Given the description of an element on the screen output the (x, y) to click on. 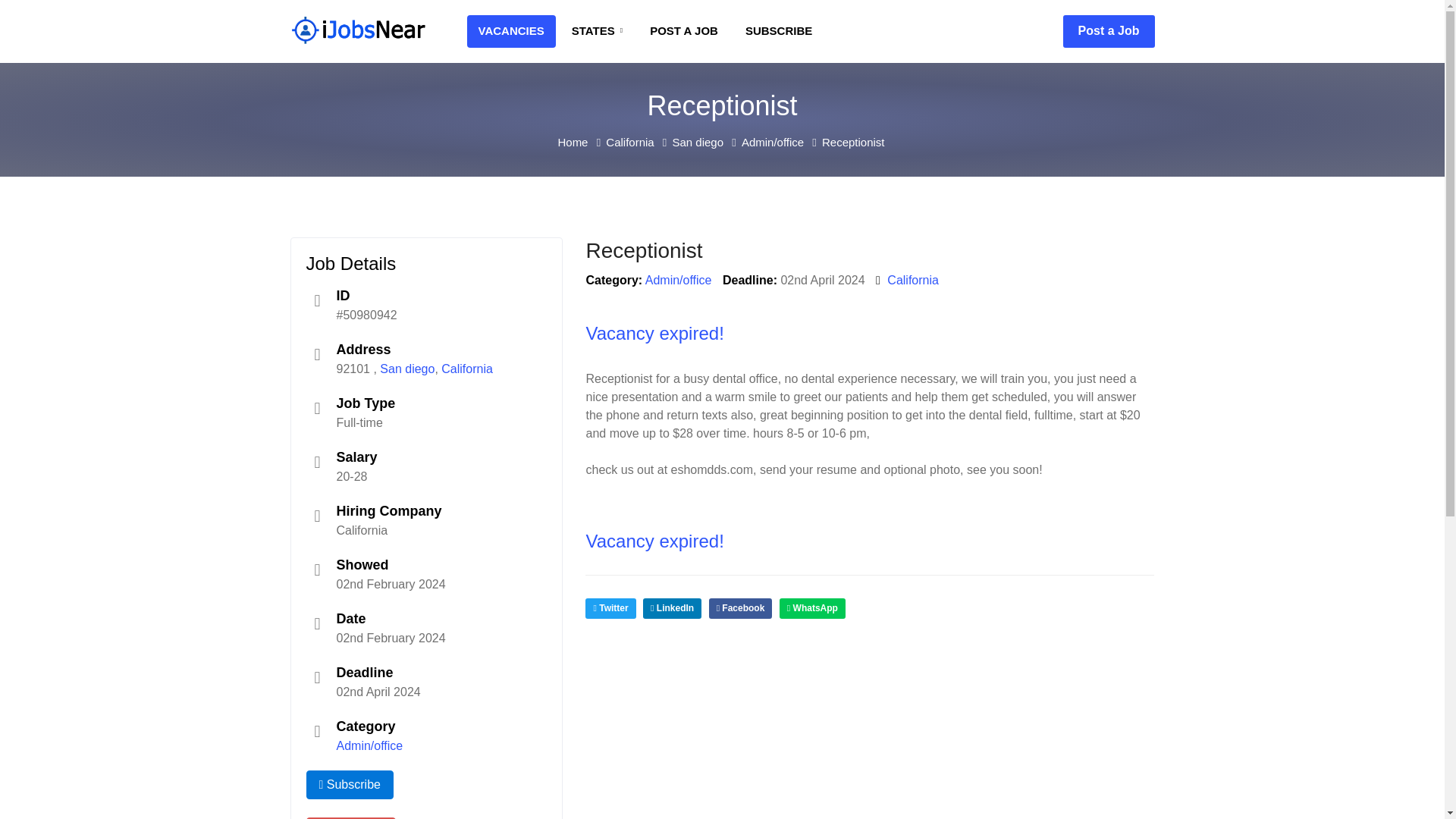
Vacancies (511, 31)
VACANCIES (511, 31)
Post a Job (1108, 31)
States (596, 31)
STATES (596, 31)
Post a Job (1108, 31)
